Given the description of an element on the screen output the (x, y) to click on. 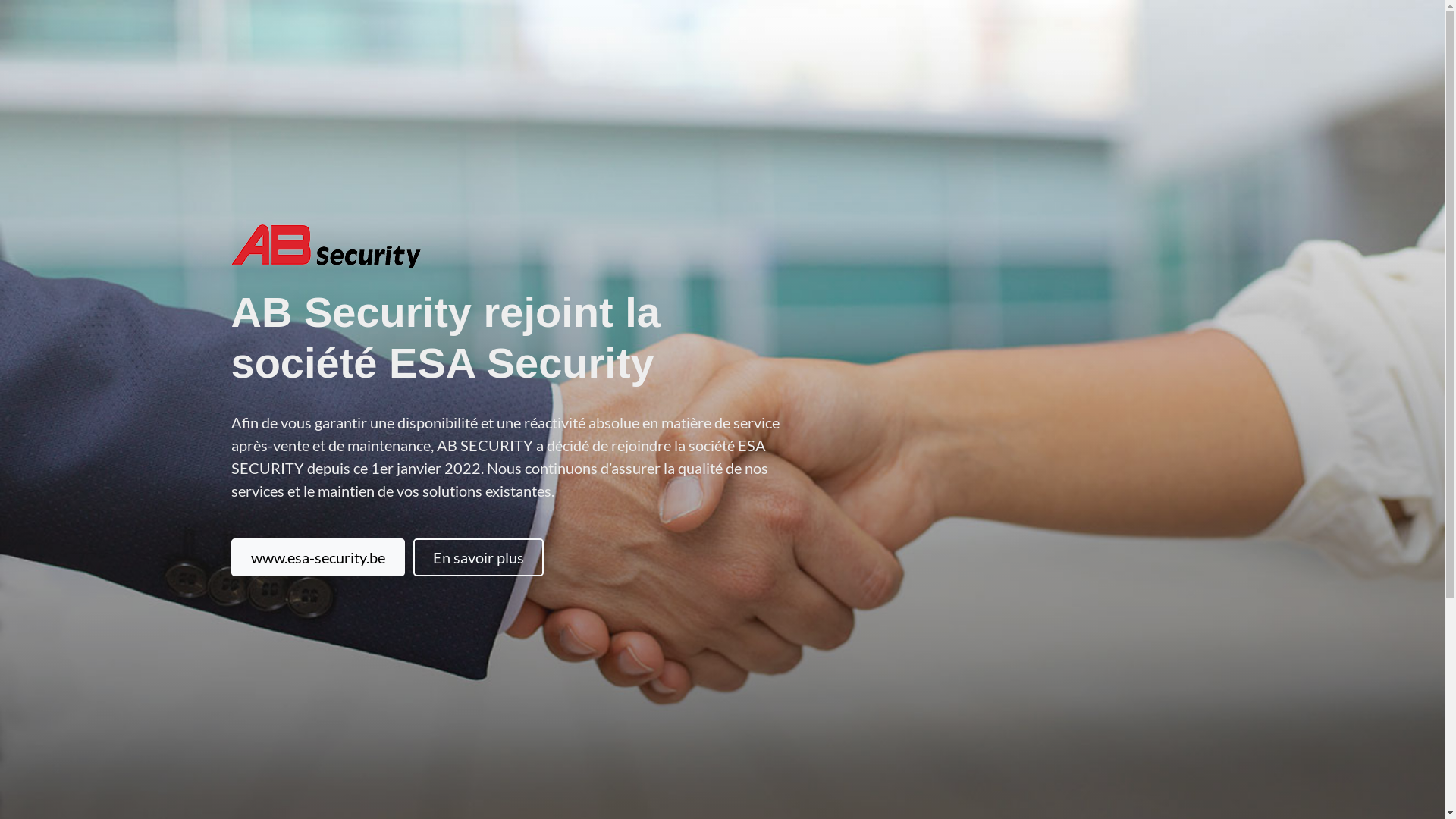
En savoir plus Element type: text (477, 557)
www.esa-security.be Element type: text (317, 557)
